Given the description of an element on the screen output the (x, y) to click on. 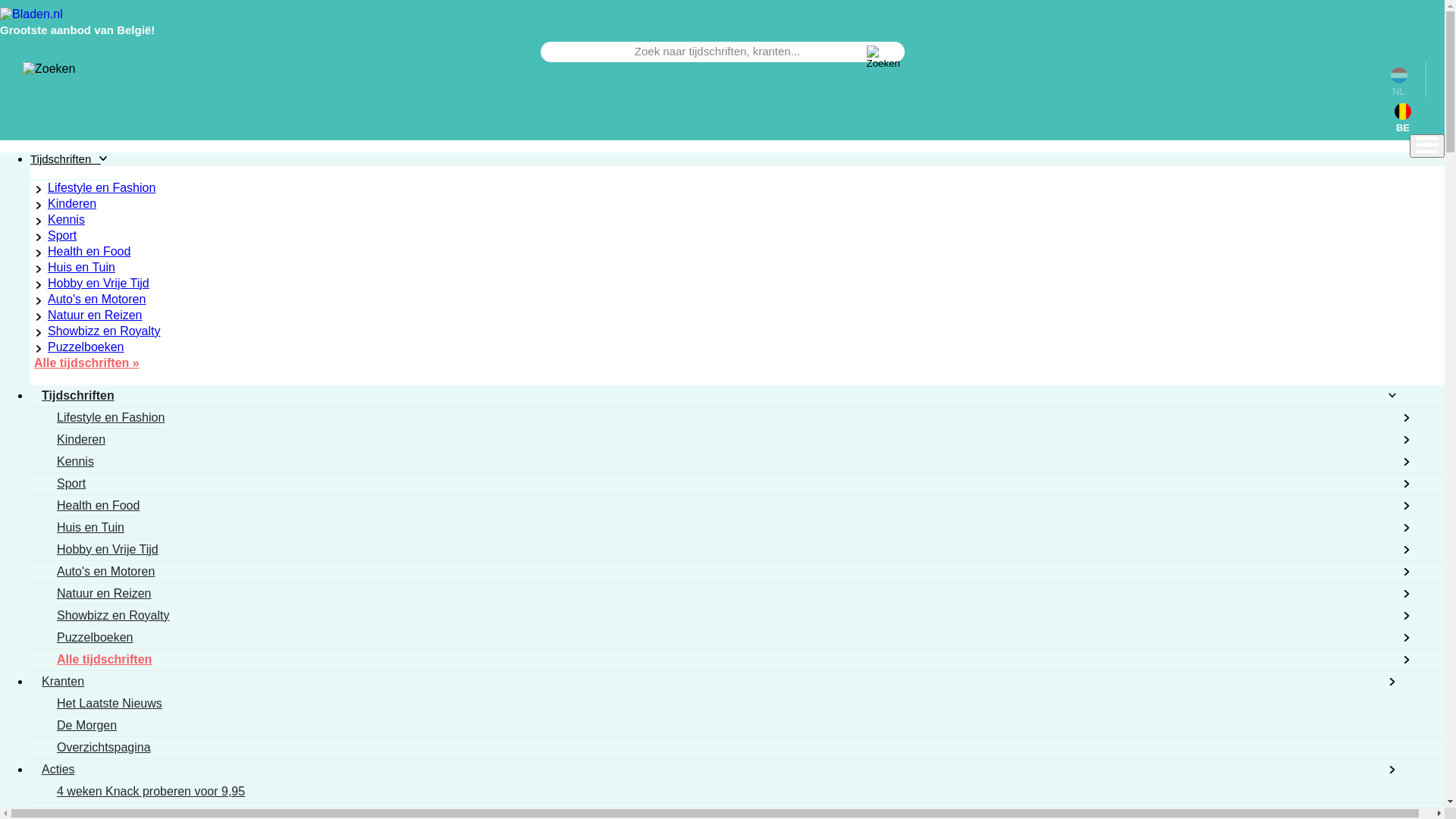
Kinderen Element type: text (69, 203)
Natuur en Reizen Element type: text (92, 314)
Health en Food Element type: text (86, 250)
Kennis Element type: text (63, 219)
Huis en Tuin Element type: text (79, 266)
Tijdschriften    Element type: text (74, 159)
Sport Element type: text (59, 235)
Lifestyle en Fashion Element type: text (99, 187)
Auto's en Motoren Element type: text (94, 298)
Natuur en Reizen Element type: text (75, 214)
Hobby en Vrije Tijd Element type: text (96, 282)
NL Element type: text (1399, 82)
Lees verder Element type: text (39, 756)
Showbizz en Royalty Element type: text (101, 330)
Puzzelboeken Element type: text (83, 346)
Lees verder Element type: text (76, 637)
